Given the description of an element on the screen output the (x, y) to click on. 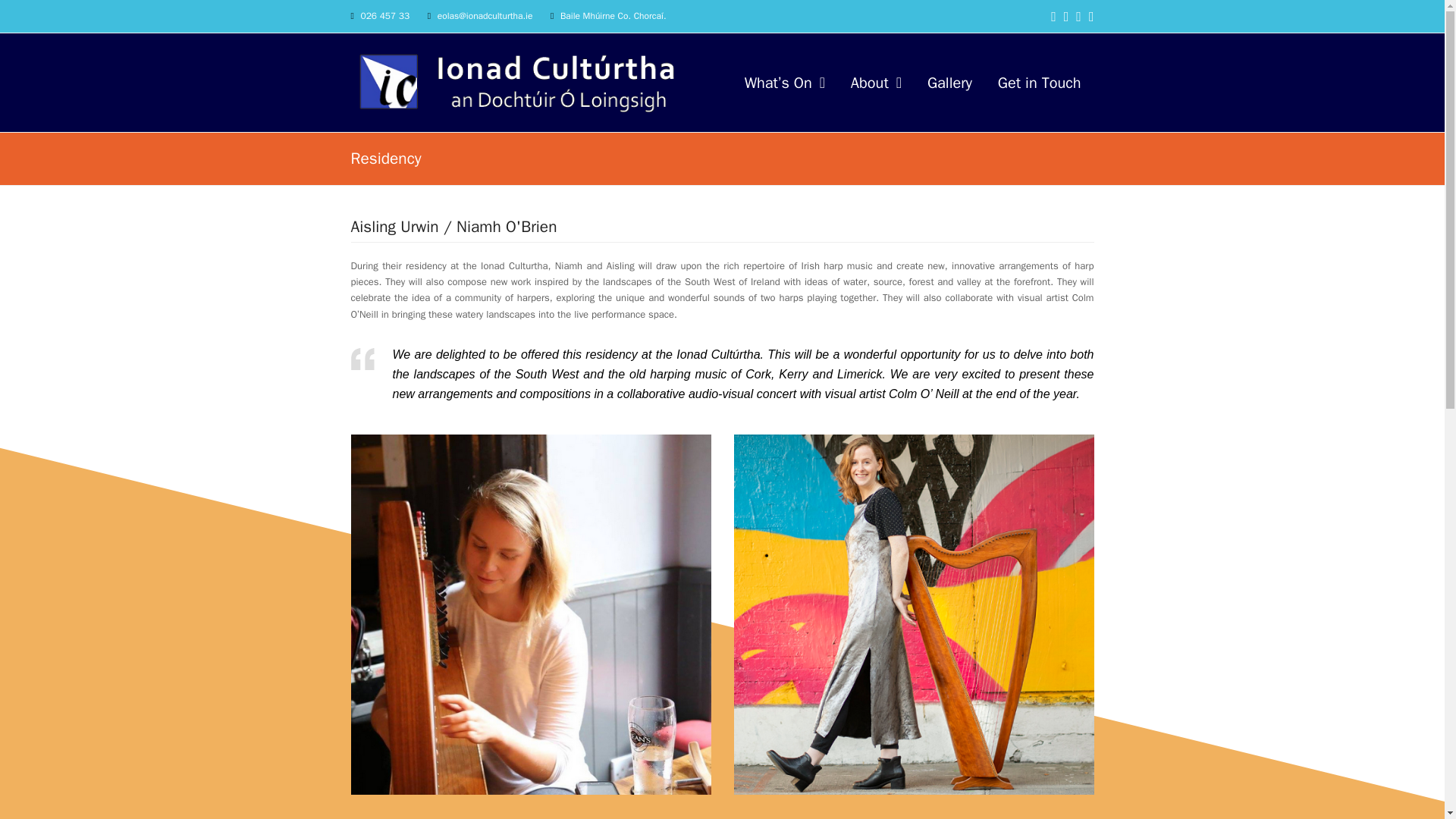
026 457 33 (384, 15)
Get in Touch (1039, 82)
